Given the description of an element on the screen output the (x, y) to click on. 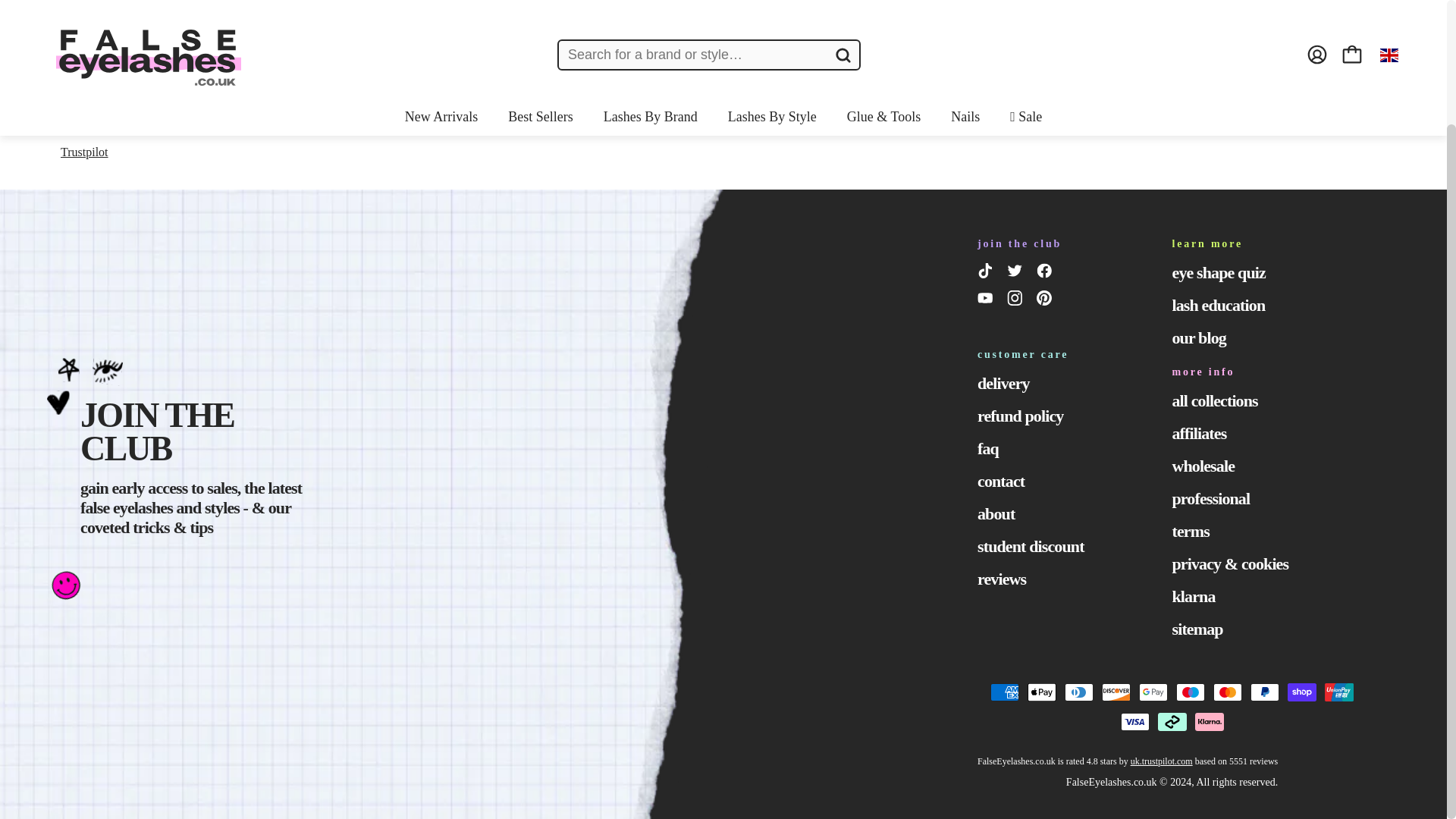
FalseEyelashes.co.uk on TikTok (986, 273)
FalseEyelashes.co.uk on YouTube (986, 301)
Lashes By Brand (650, 3)
FalseEyelashes.co.uk on Instagram (1017, 301)
Best Sellers (540, 3)
FalseEyelashes.co.uk on Pinterest (1046, 301)
FalseEyelashes.co.uk on Facebook (1046, 273)
New Arrivals (440, 3)
FalseEyelashes.co.uk on Twitter (1017, 273)
